Given the description of an element on the screen output the (x, y) to click on. 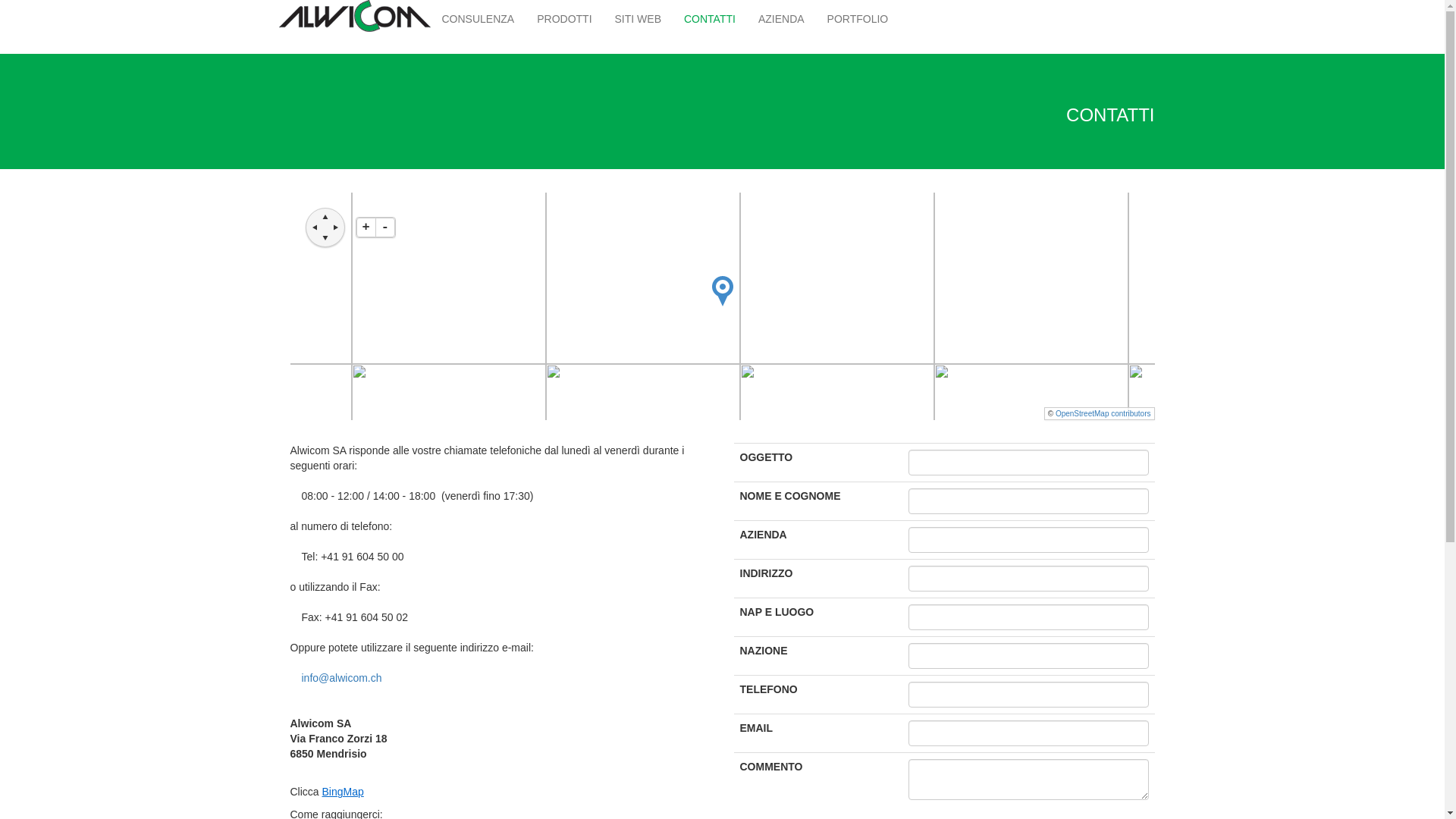
BingMap Element type: text (343, 791)
CONSULENZA Element type: text (478, 18)
PRODOTTI Element type: text (563, 18)
OpenStreetMap contributors Element type: text (1103, 413)
CONTATTI Element type: text (709, 18)
SITI WEB Element type: text (637, 18)
PORTFOLIO Element type: text (857, 18)
AZIENDA Element type: text (780, 18)
info@alwicom.ch Element type: text (341, 677)
- Element type: text (385, 227)
+ Element type: text (366, 227)
